Given the description of an element on the screen output the (x, y) to click on. 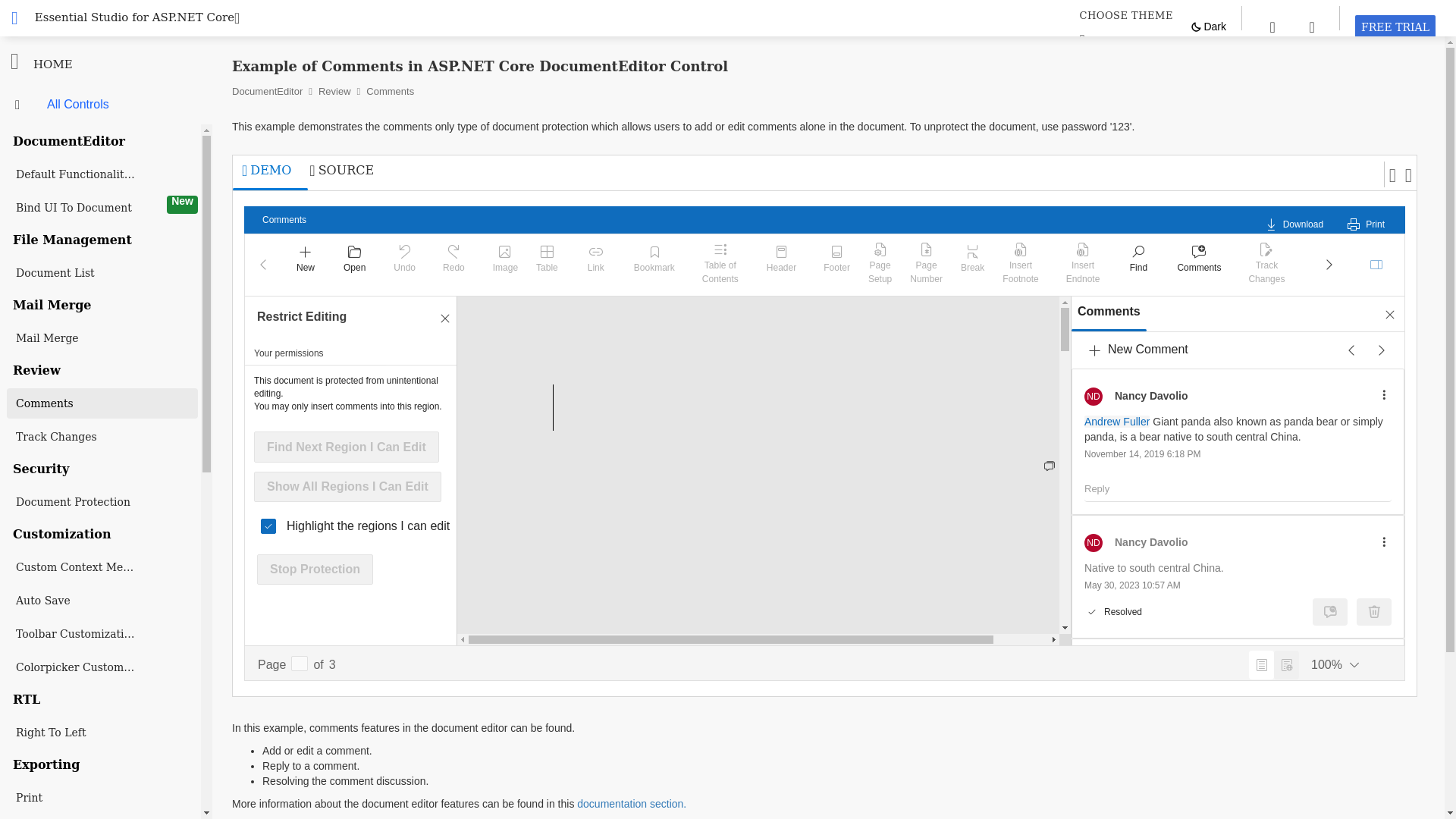
Toggle sample search (1272, 26)
FREE TRIAL (1395, 27)
Print (1366, 219)
Document Name. Click or tap to rename this document. (283, 219)
Download (1294, 219)
Change theme of sample browser (1125, 15)
Comments (1395, 27)
Find Next Region I Can Edit (1198, 264)
Bookmark (346, 446)
Download this document. (653, 264)
